Given the description of an element on the screen output the (x, y) to click on. 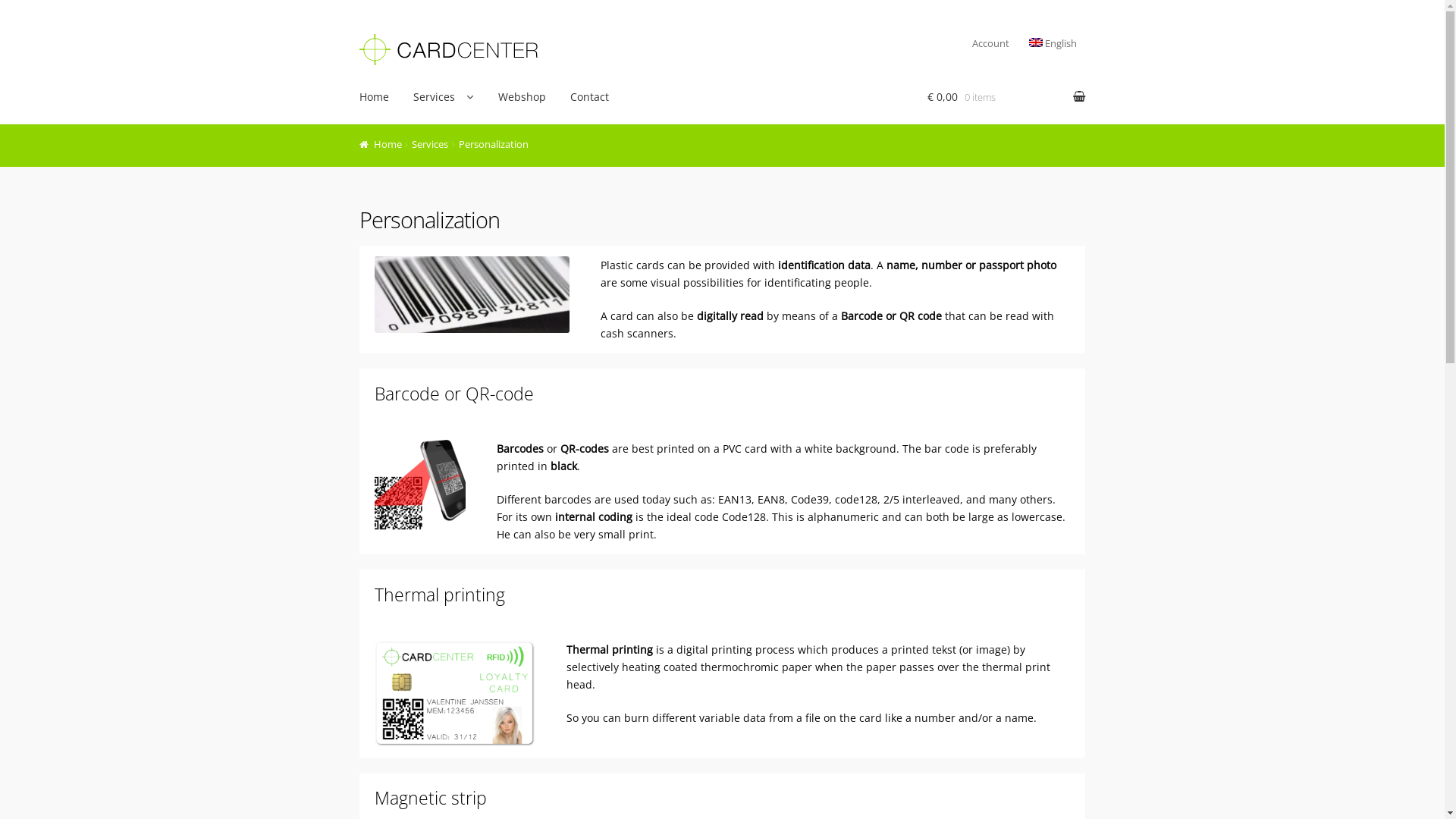
Services Element type: text (442, 96)
English Element type: hover (1034, 42)
Home Element type: text (373, 96)
Home Element type: text (380, 144)
Services Element type: text (429, 144)
English Element type: text (1052, 43)
Skip to navigation Element type: text (358, 28)
Account Element type: text (990, 44)
Webshop Element type: text (521, 96)
Contact Element type: text (589, 96)
